Given the description of an element on the screen output the (x, y) to click on. 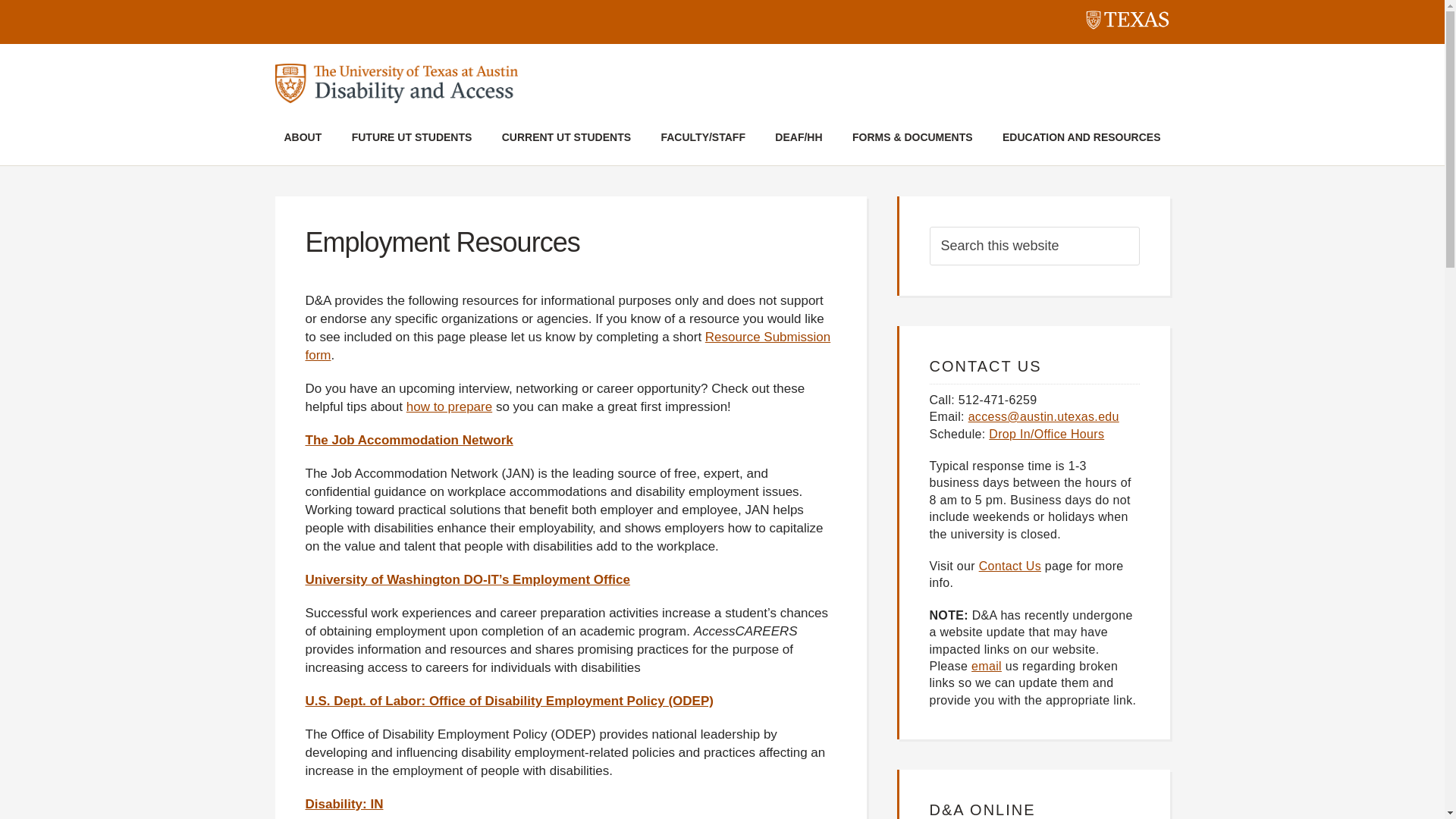
The University of Texas at Austin (1126, 22)
CURRENT UT STUDENTS (566, 139)
ABOUT (303, 139)
Forms and Documents (912, 139)
FUTURE UT STUDENTS (411, 139)
